Given the description of an element on the screen output the (x, y) to click on. 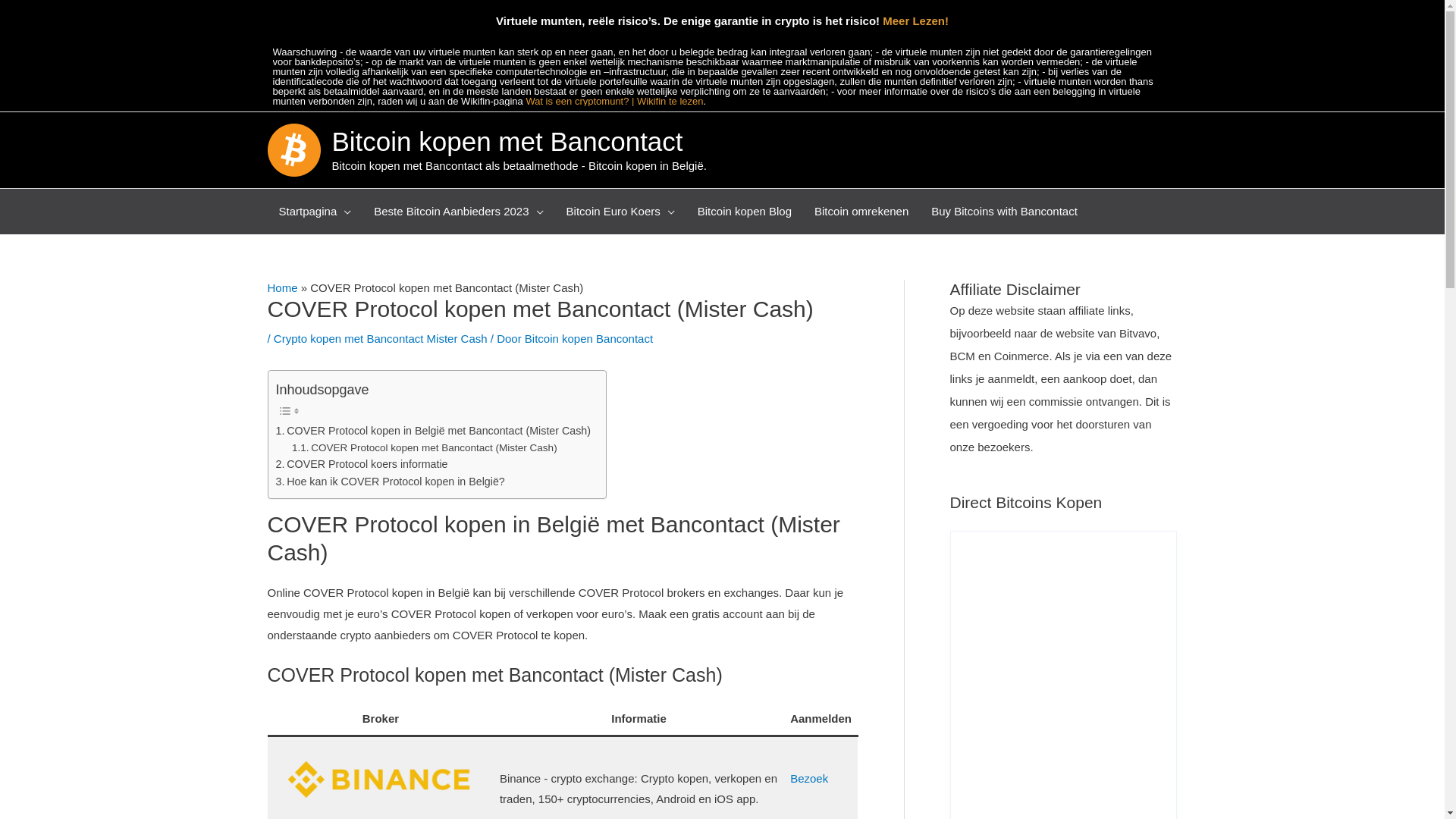
COVER Protocol kopen met Bancontact (Mister Cash) Element type: text (424, 447)
Bitcoin kopen met Bancontact Element type: text (507, 141)
Meer Lezen! Element type: text (915, 20)
Home Element type: text (281, 287)
Buy Bitcoins with Bancontact Element type: text (1003, 211)
Bezoek Element type: text (809, 777)
Beste Bitcoin Aanbieders 2023 Element type: text (458, 211)
Crypto kopen met Bancontact Mister Cash Element type: text (380, 338)
Bitcoin Euro Koers Element type: text (620, 211)
Wat is een cryptomunt? | Wikifin te lezen Element type: text (613, 100)
COVER Protocol koers informatie Element type: text (362, 464)
Startpagina Element type: text (314, 211)
Bitcoin kopen Blog Element type: text (744, 211)
Bitcoin kopen Bancontact Element type: text (588, 338)
Bitcoin omrekenen Element type: text (861, 211)
